Given the description of an element on the screen output the (x, y) to click on. 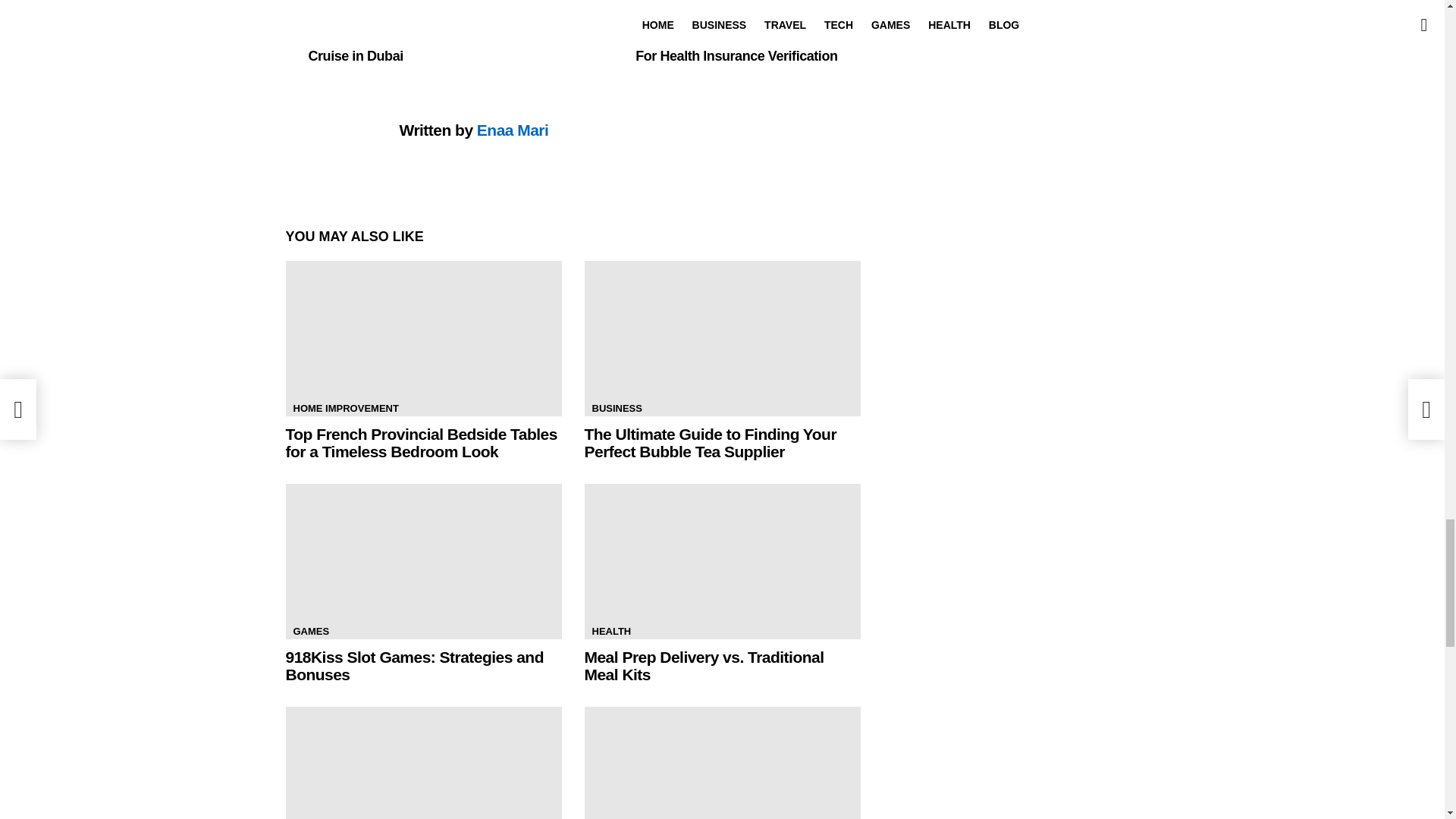
HEALTH (611, 631)
Meal Prep Delivery vs. Traditional Meal Kits (721, 561)
Enaa Mari (512, 129)
Meal Prep Delivery vs. Traditional Meal Kits (703, 665)
918Kiss Slot Games: Strategies and Bonuses (422, 561)
BUSINESS (616, 407)
GAMES (310, 631)
How to Manage Your Bankroll in Online Sports Betting (721, 762)
